Given the description of an element on the screen output the (x, y) to click on. 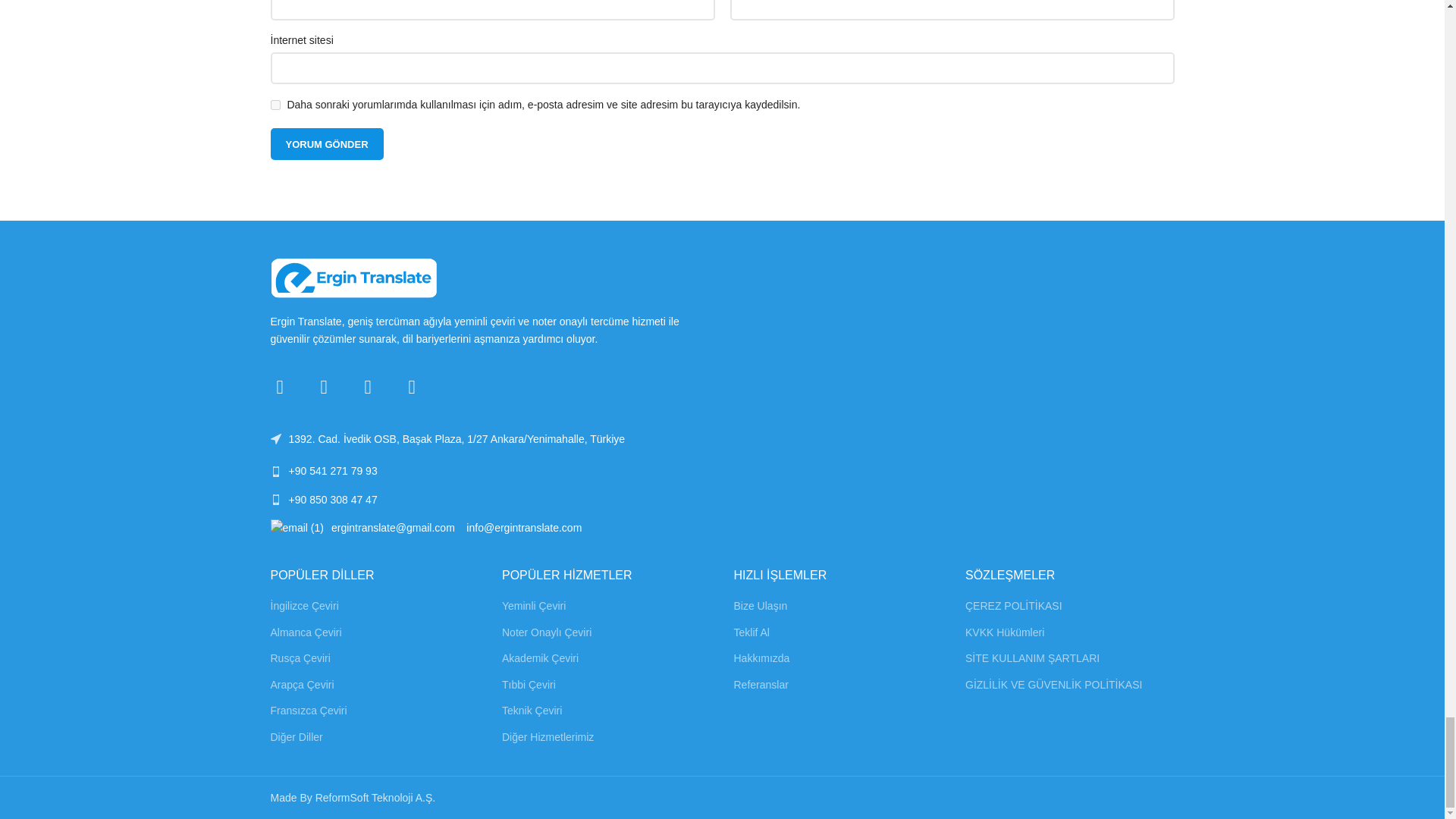
wd-phone-light (275, 499)
wd-cursor-light (275, 439)
Ergin Translate (352, 278)
wd-phone-light (275, 471)
yes (274, 104)
